Given the description of an element on the screen output the (x, y) to click on. 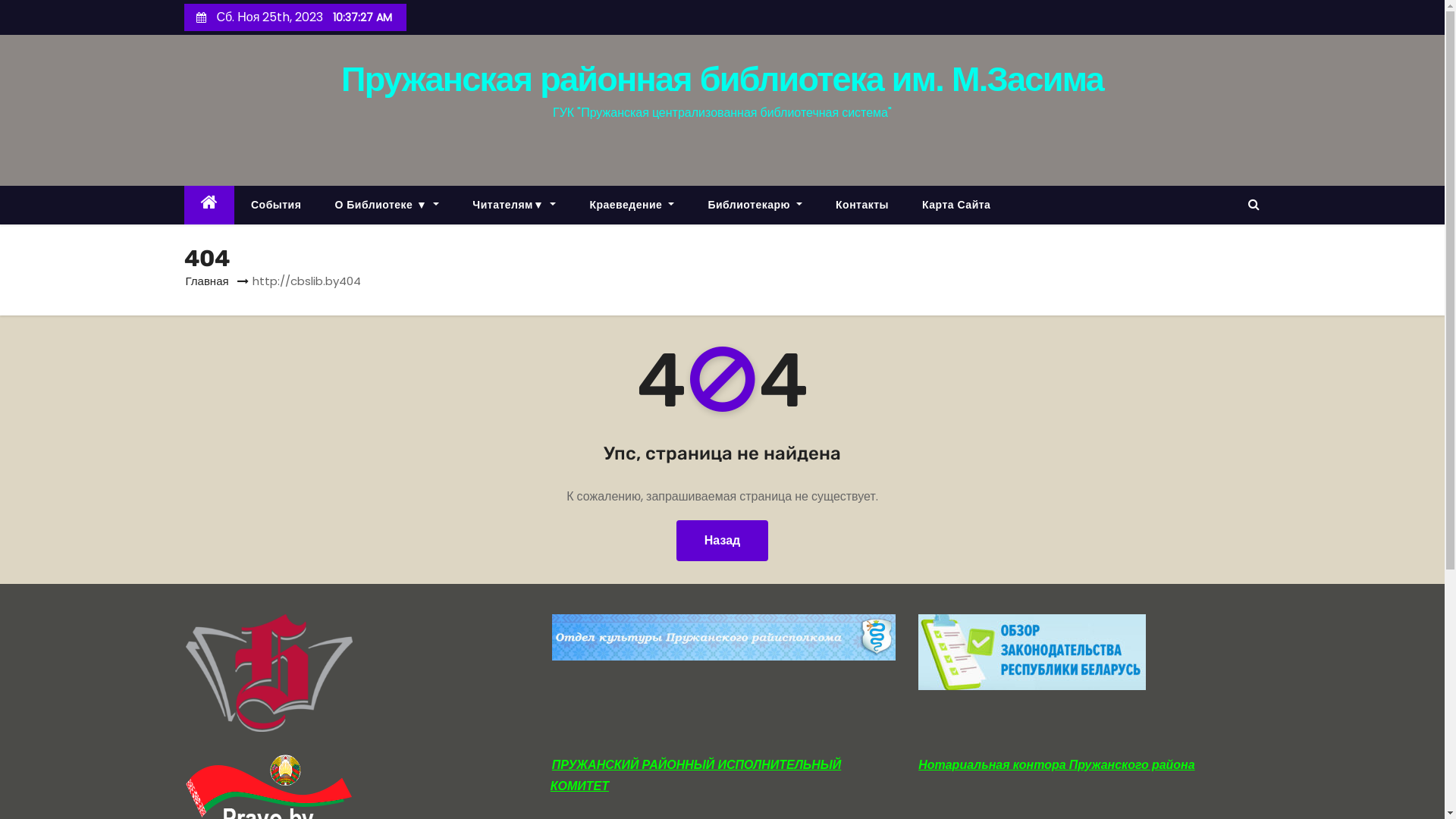
Home Element type: hover (208, 204)
